Given the description of an element on the screen output the (x, y) to click on. 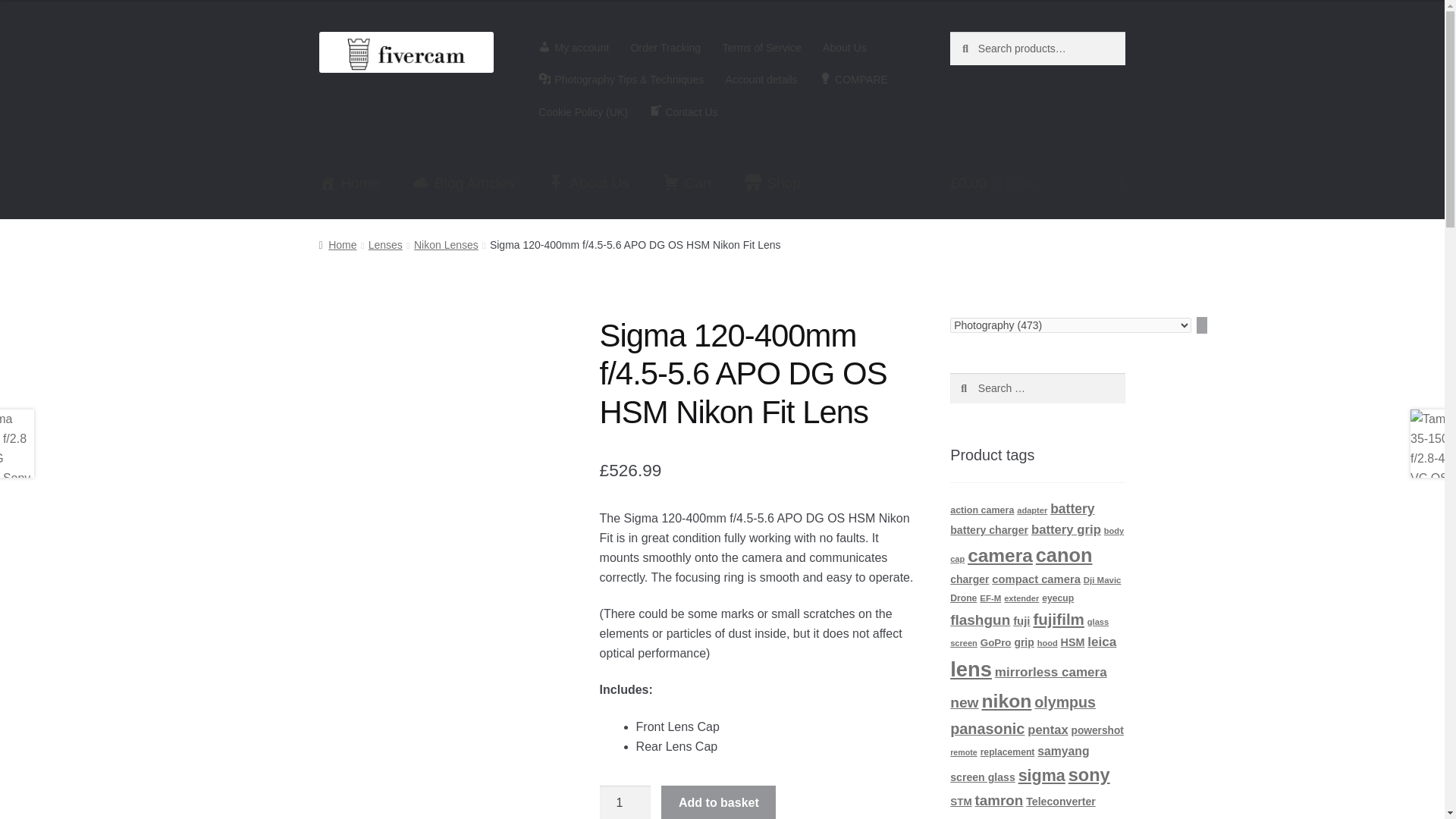
Contact Us (683, 111)
My account (573, 47)
Account details (761, 79)
Cart (686, 183)
COMPARE (852, 79)
Home (348, 183)
Terms of Service (761, 47)
Add to basket (718, 802)
